Given the description of an element on the screen output the (x, y) to click on. 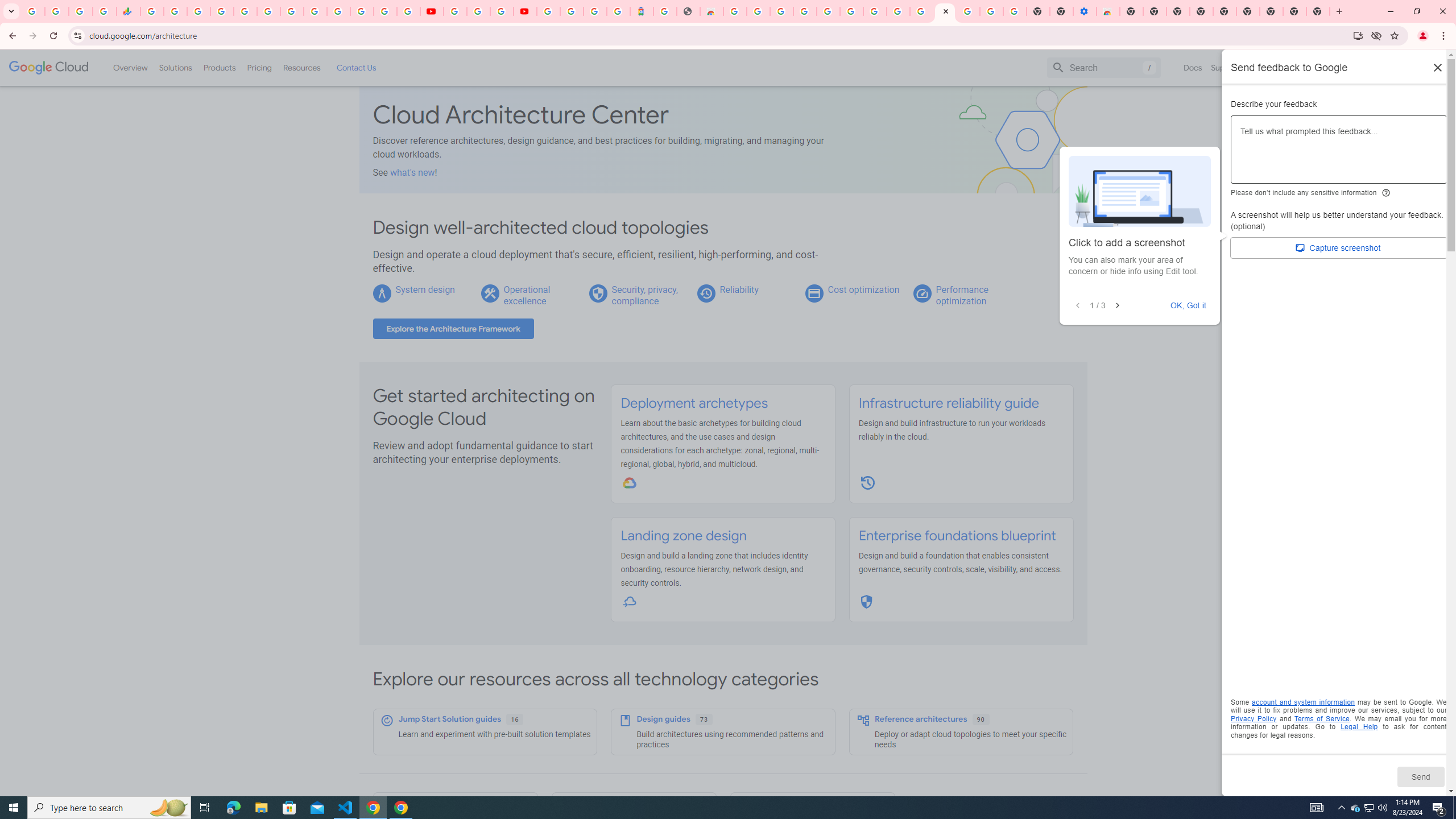
Contact Us (355, 67)
Pricing (259, 67)
New Tab (1131, 11)
Content Creator Programs & Opportunities - YouTube Creators (524, 11)
New Tab (1318, 11)
Start free (1405, 67)
Opens in a new tab. Privacy Policy (1253, 718)
Deployment archetypes (694, 402)
Browse the Google Chrome Community - Google Chrome Community (921, 11)
Opens in a new tab. Terms of Service (1321, 718)
Resources (301, 67)
